Given the description of an element on the screen output the (x, y) to click on. 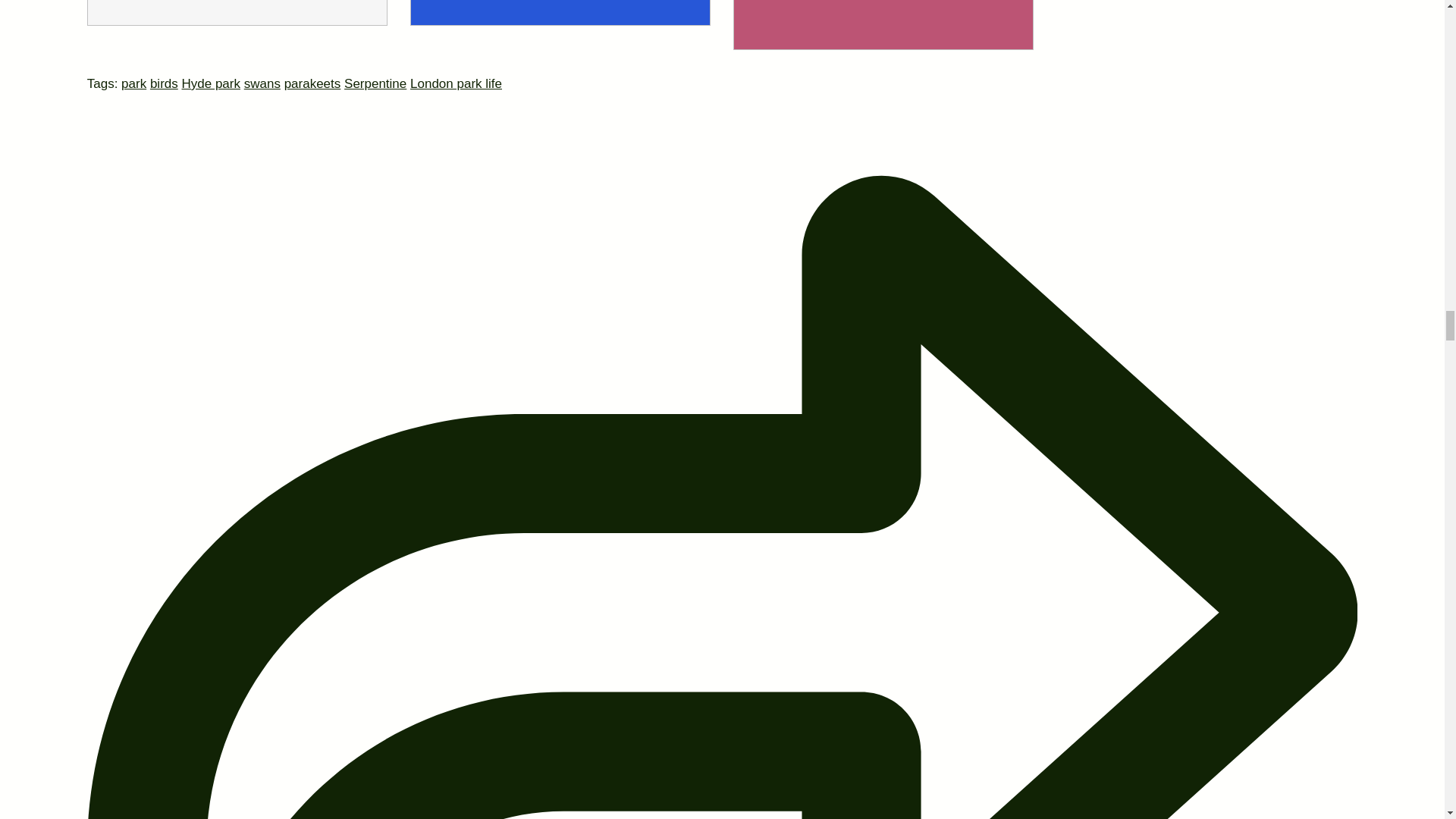
swans (262, 83)
birds (163, 83)
parakeets (311, 83)
Hyde park (211, 83)
park (133, 83)
London park life (456, 83)
Tags: (103, 83)
Serpentine (374, 83)
